Given the description of an element on the screen output the (x, y) to click on. 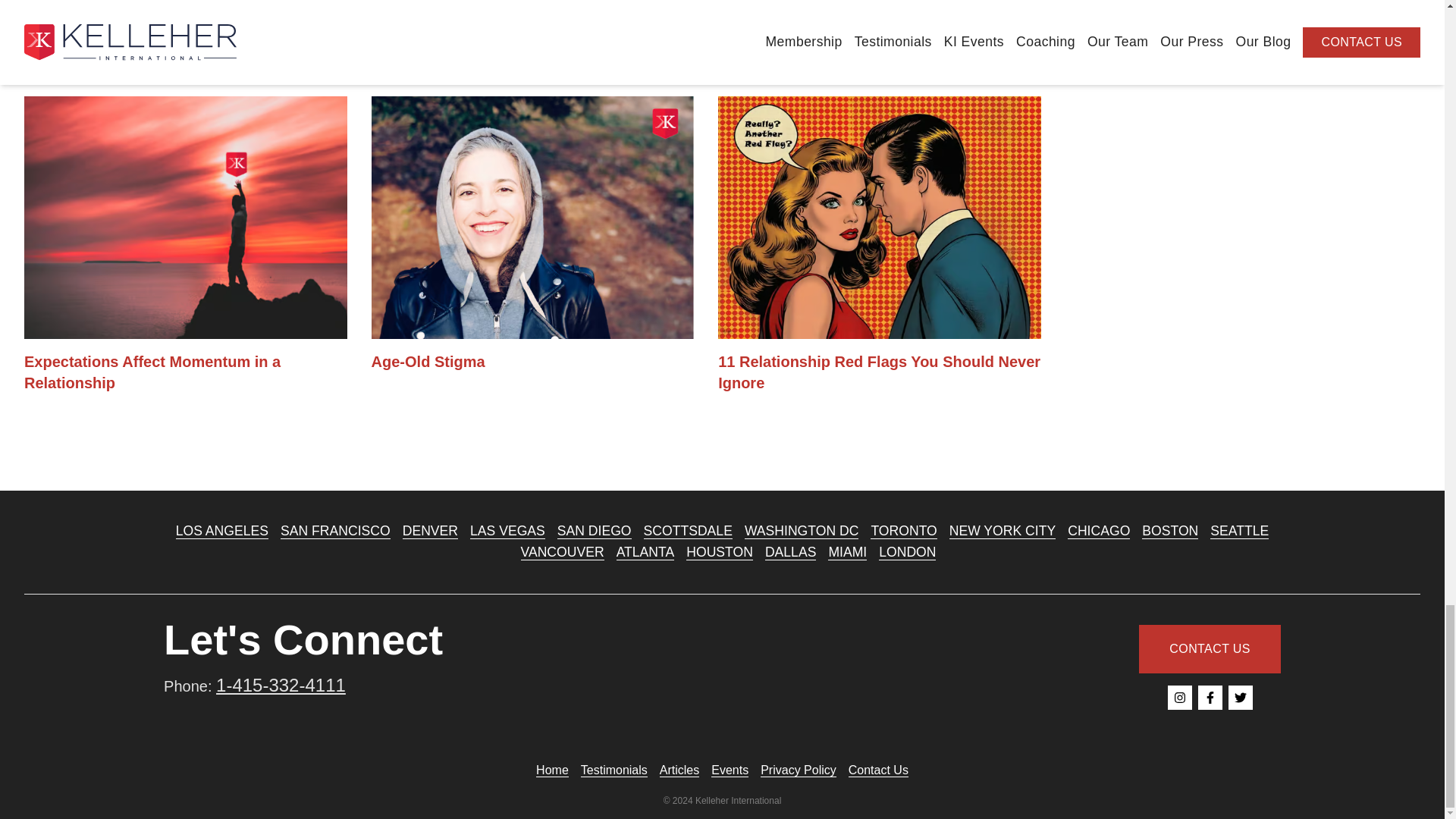
TORONTO (903, 530)
BOSTON (1169, 530)
SAN DIEGO (594, 530)
SAN FRANCISCO (335, 530)
VANCOUVER (561, 552)
Share on Facebook (36, 20)
DENVER (430, 530)
Expectations Affect Momentum in a Relationship (185, 244)
Share on Twitter (60, 20)
WASHINGTON DC (801, 530)
Share on Pinterest (84, 20)
SCOTTSDALE (687, 530)
NEW YORK CITY (1002, 530)
LAS VEGAS (507, 530)
LOS ANGELES (221, 530)
